Given the description of an element on the screen output the (x, y) to click on. 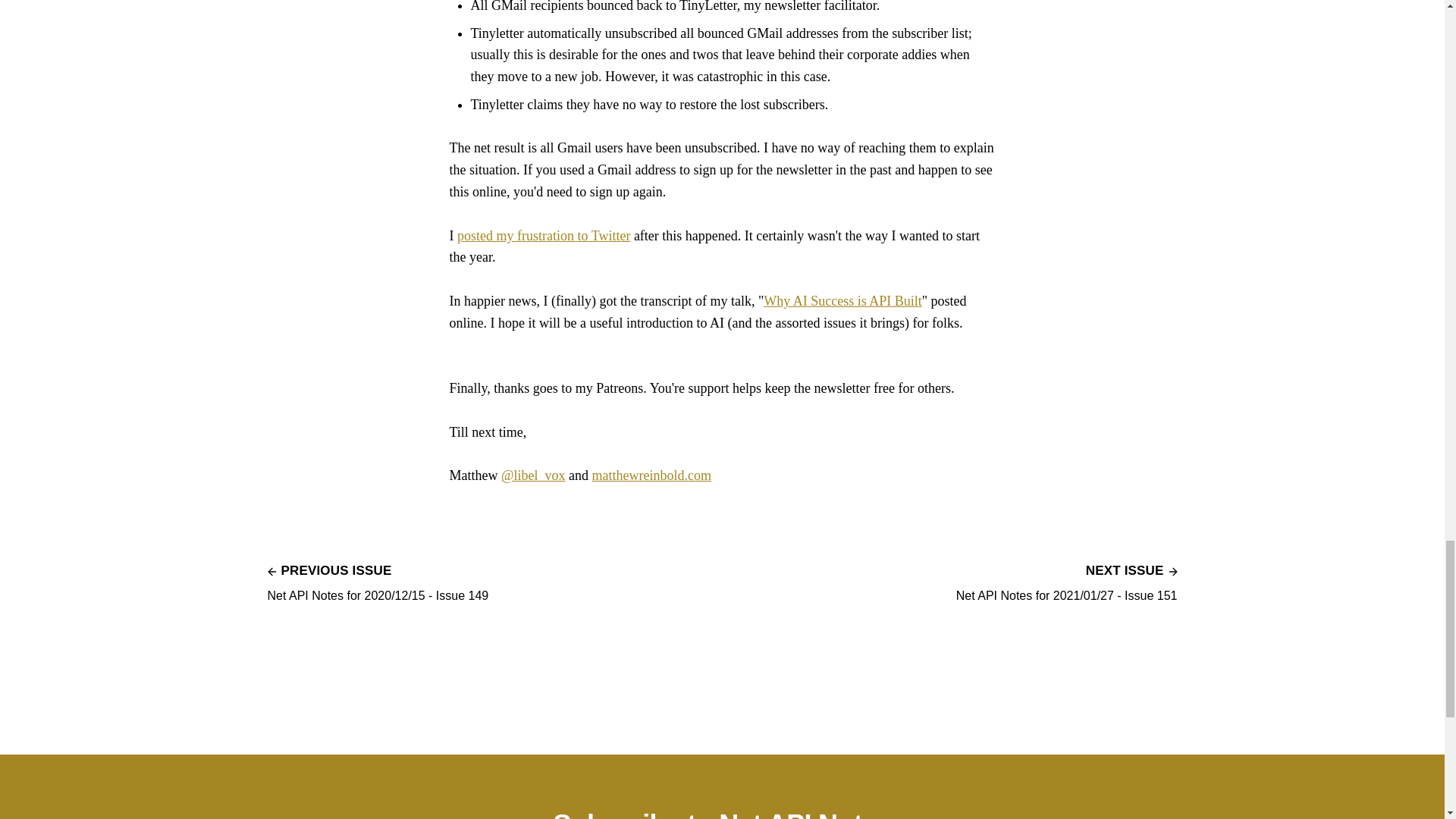
posted my frustration to Twitter (543, 235)
Why AI Success is API Built (841, 300)
matthewreinbold.com (651, 475)
